Given the description of an element on the screen output the (x, y) to click on. 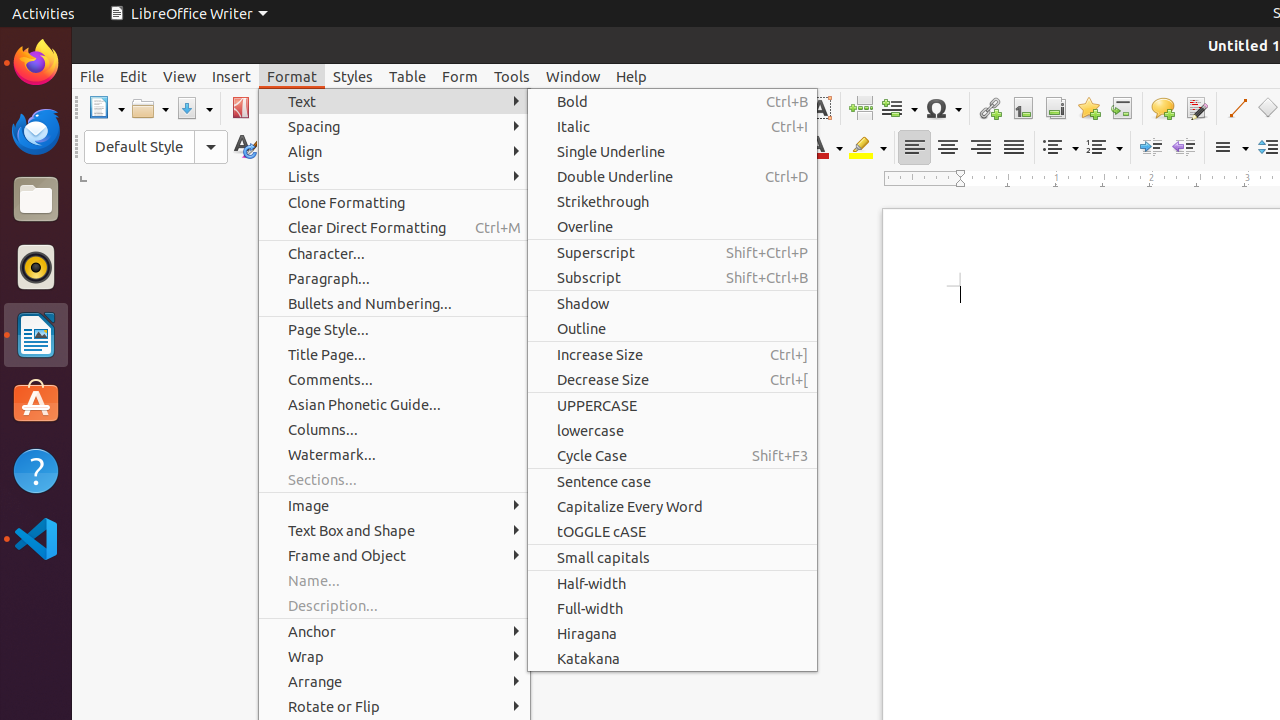
Spelling Element type: push-button (635, 108)
Thunderbird Mail Element type: push-button (36, 131)
Image Element type: push-button (753, 108)
Form Element type: menu (460, 76)
Wrap Element type: menu (394, 656)
